Given the description of an element on the screen output the (x, y) to click on. 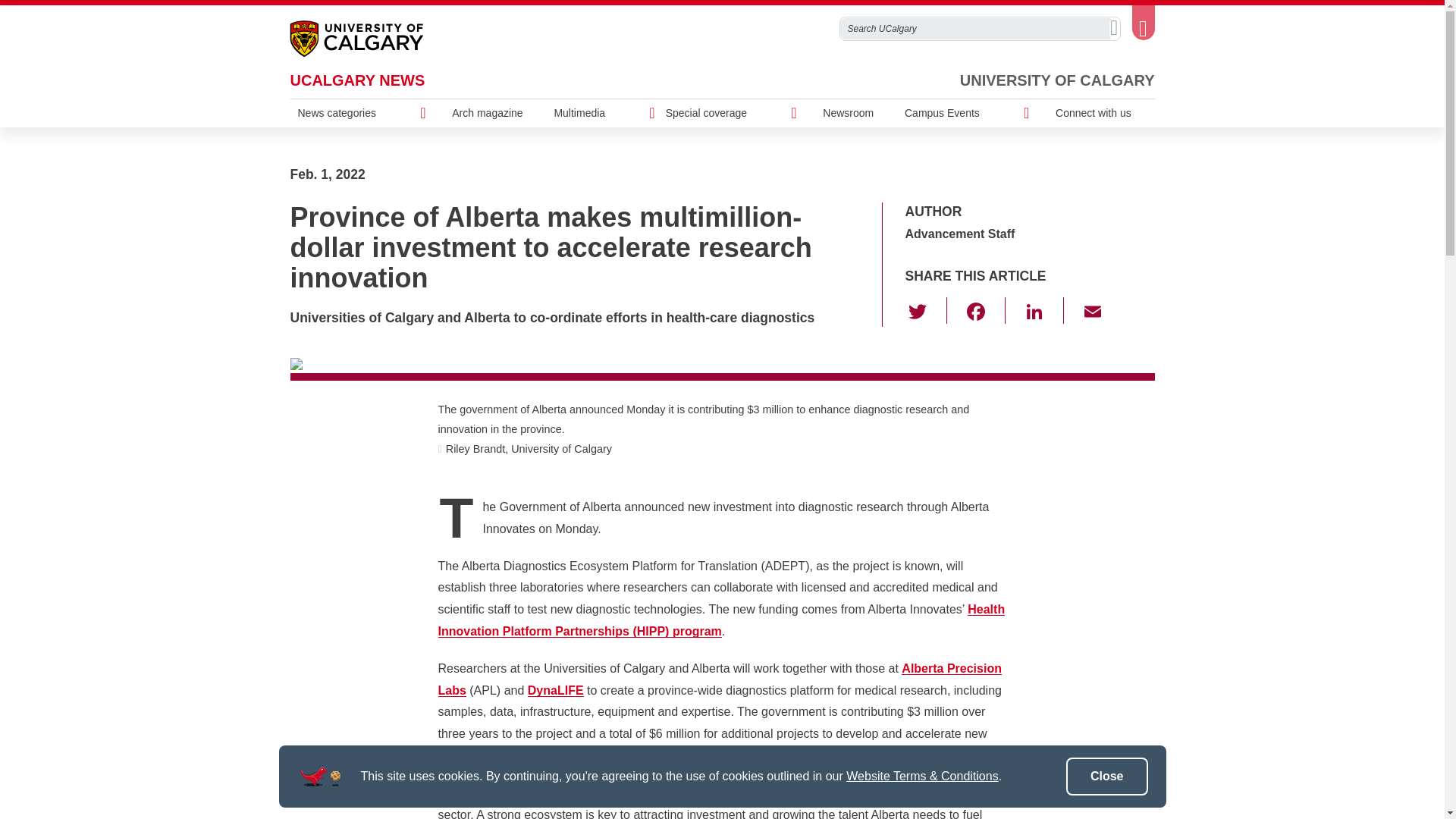
Close (1106, 776)
